Given the description of an element on the screen output the (x, y) to click on. 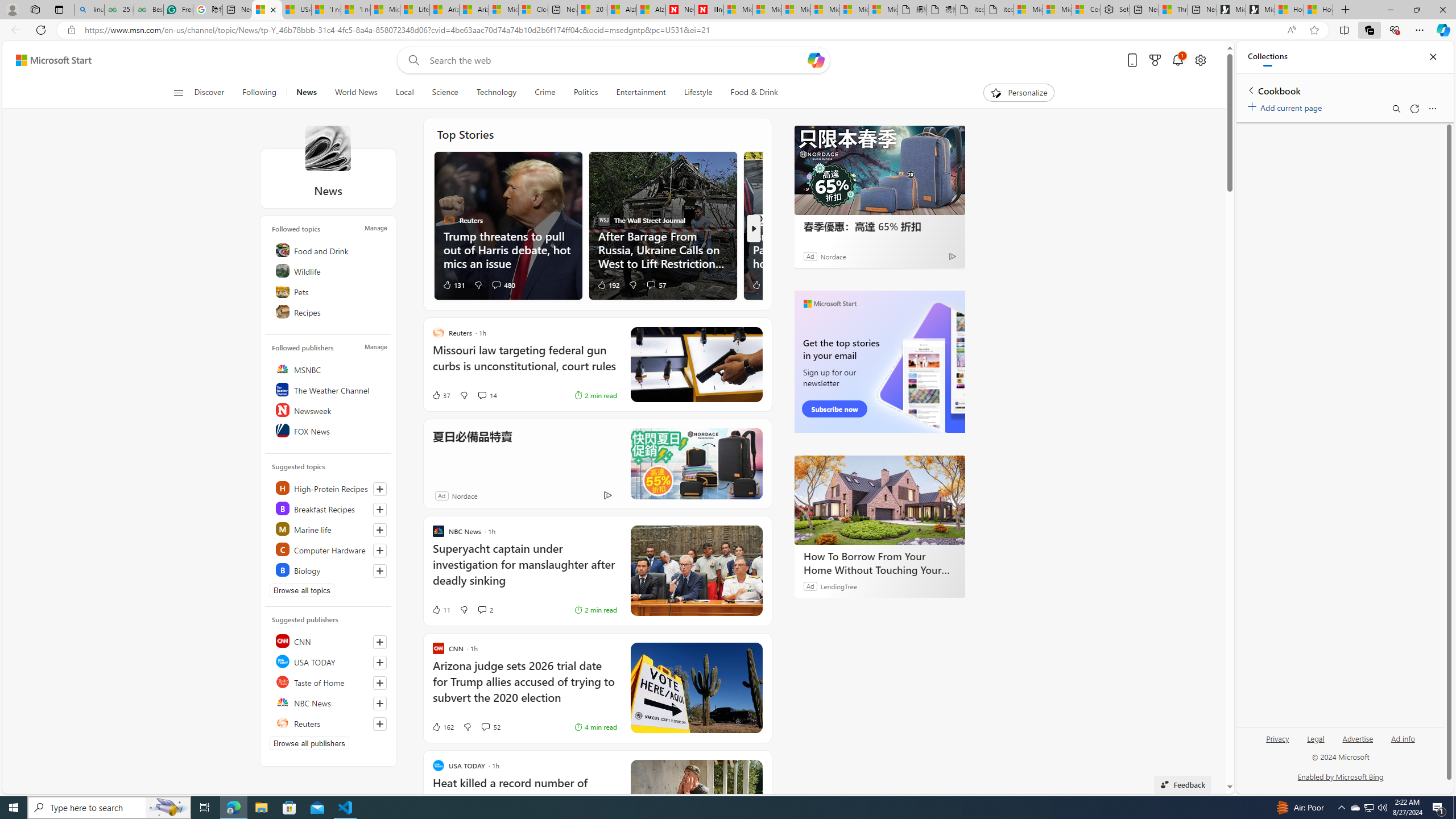
Enter your search term (617, 59)
LendingTree (838, 586)
Food and Drink (328, 249)
